Given the description of an element on the screen output the (x, y) to click on. 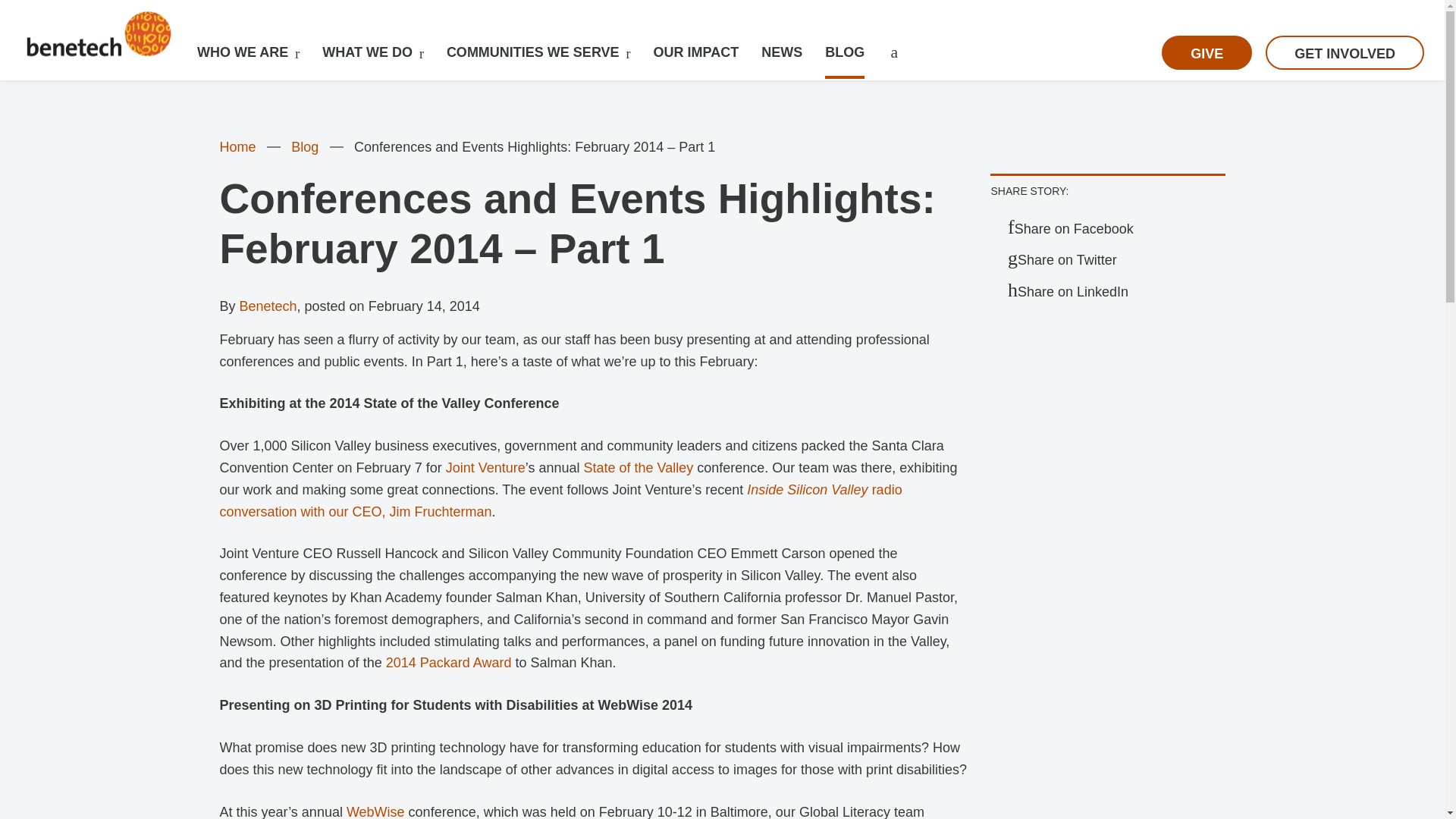
WebWise (375, 811)
Share story on Twitter (1061, 259)
Share story on LinkedIn (1067, 291)
Blog (304, 146)
2014 Packard Award (448, 662)
WHO WE ARE (242, 51)
NEWS (781, 51)
WHAT WE DO (366, 51)
GET INVOLVED (1344, 52)
